Given the description of an element on the screen output the (x, y) to click on. 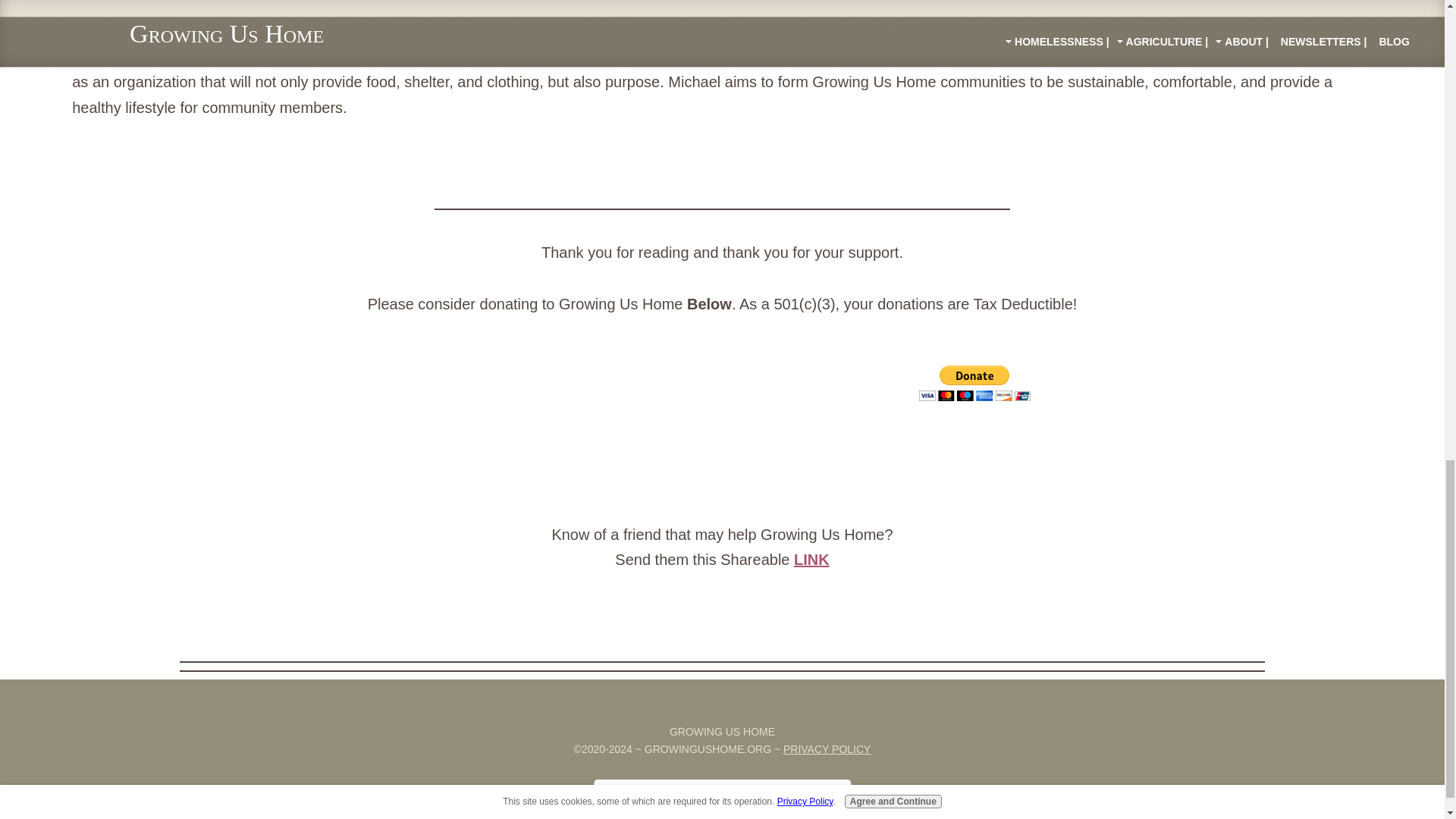
LINK (811, 559)
PRIVACY POLICY (826, 749)
PayPal - The safer, easier way to pay online! (974, 383)
